Given the description of an element on the screen output the (x, y) to click on. 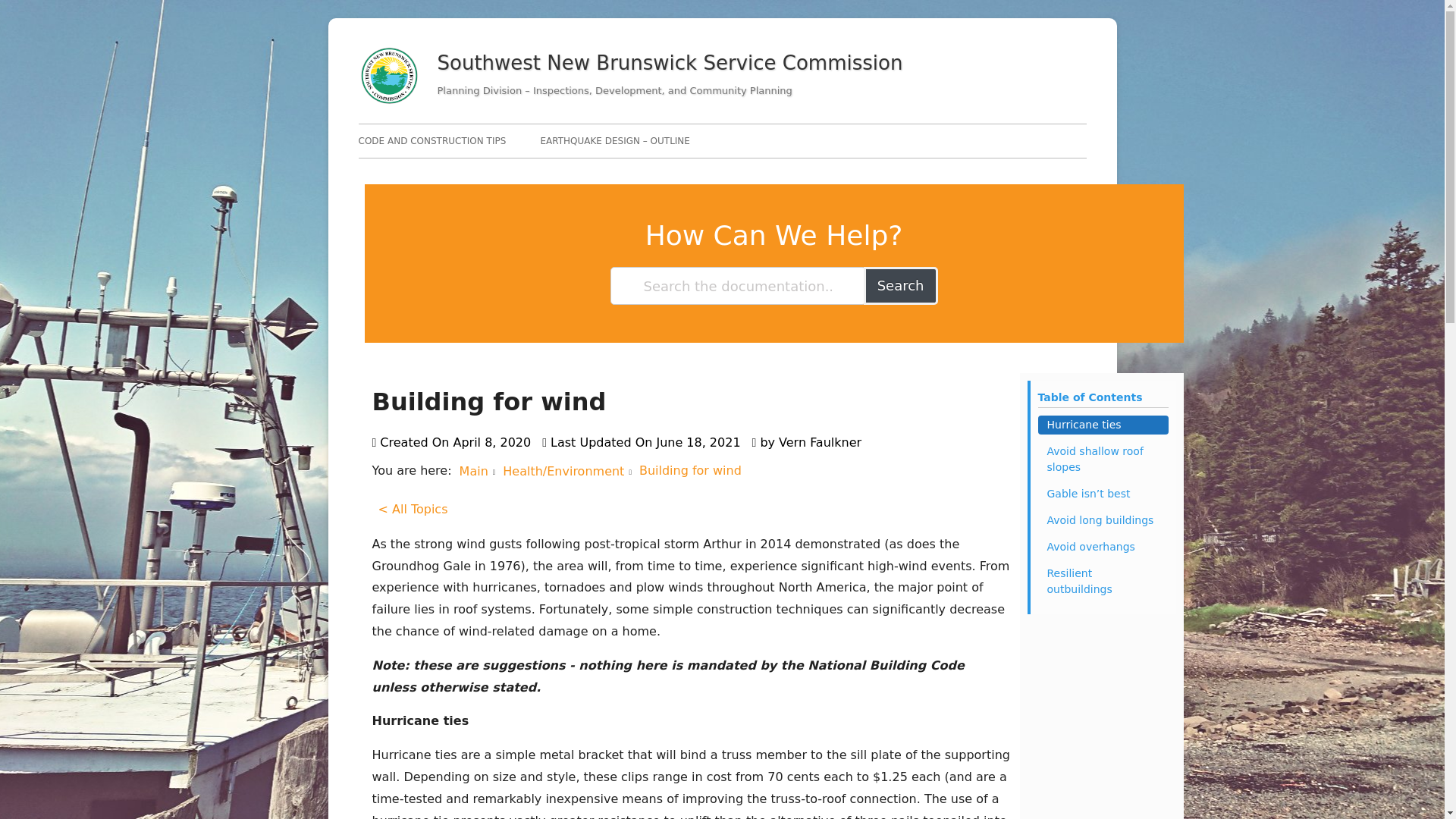
Southwest New Brunswick Service Commission (669, 63)
Search (900, 285)
Resilient outbuildings (1101, 581)
Avoid long buildings (1101, 520)
Main (473, 471)
Avoid shallow roof slopes (1101, 459)
Hurricane ties (1101, 424)
Avoid overhangs (1101, 546)
CODE AND CONSTRUCTION TIPS (431, 141)
